Given the description of an element on the screen output the (x, y) to click on. 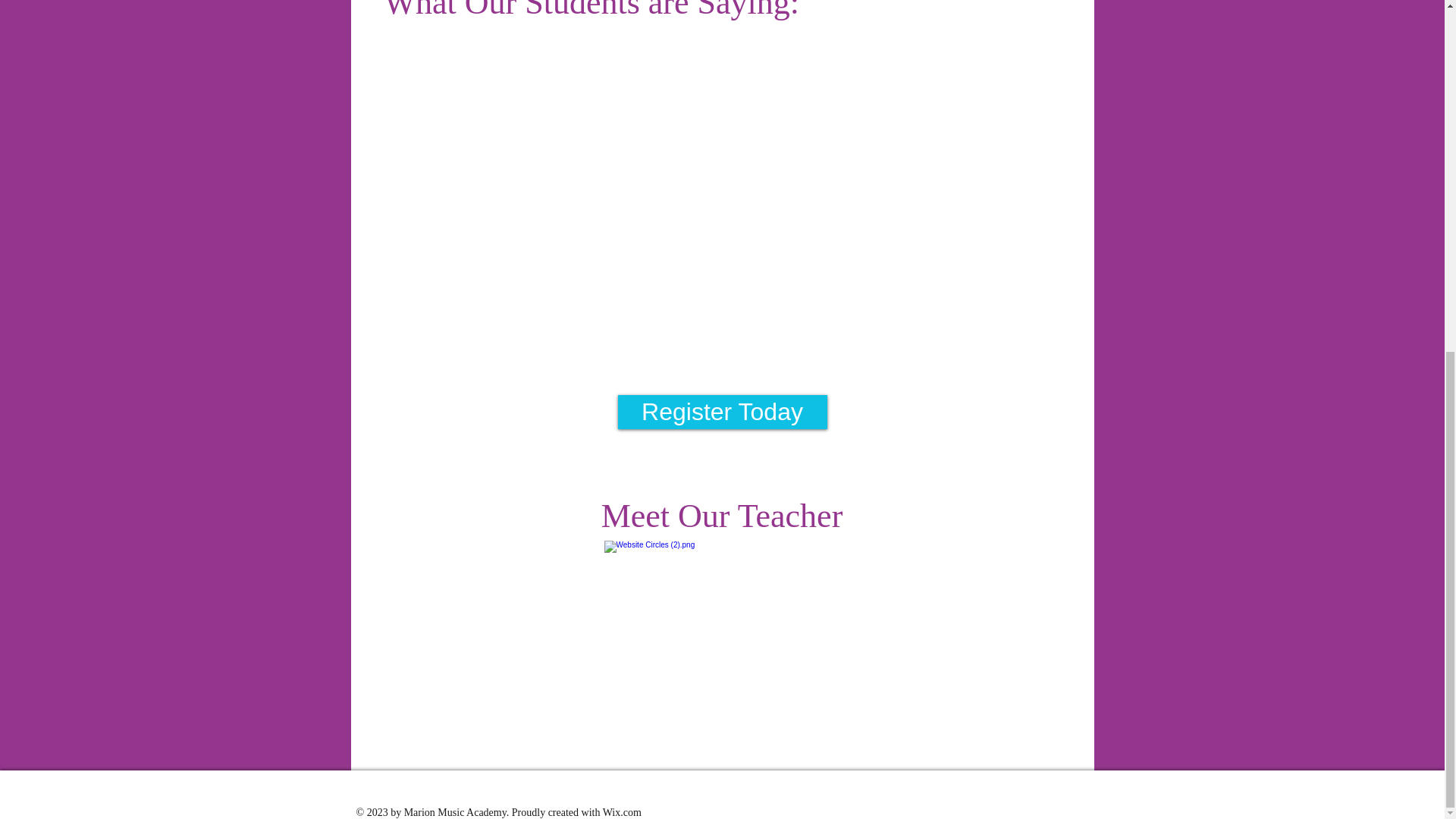
Wix.com (622, 812)
Register Today (722, 411)
